Given the description of an element on the screen output the (x, y) to click on. 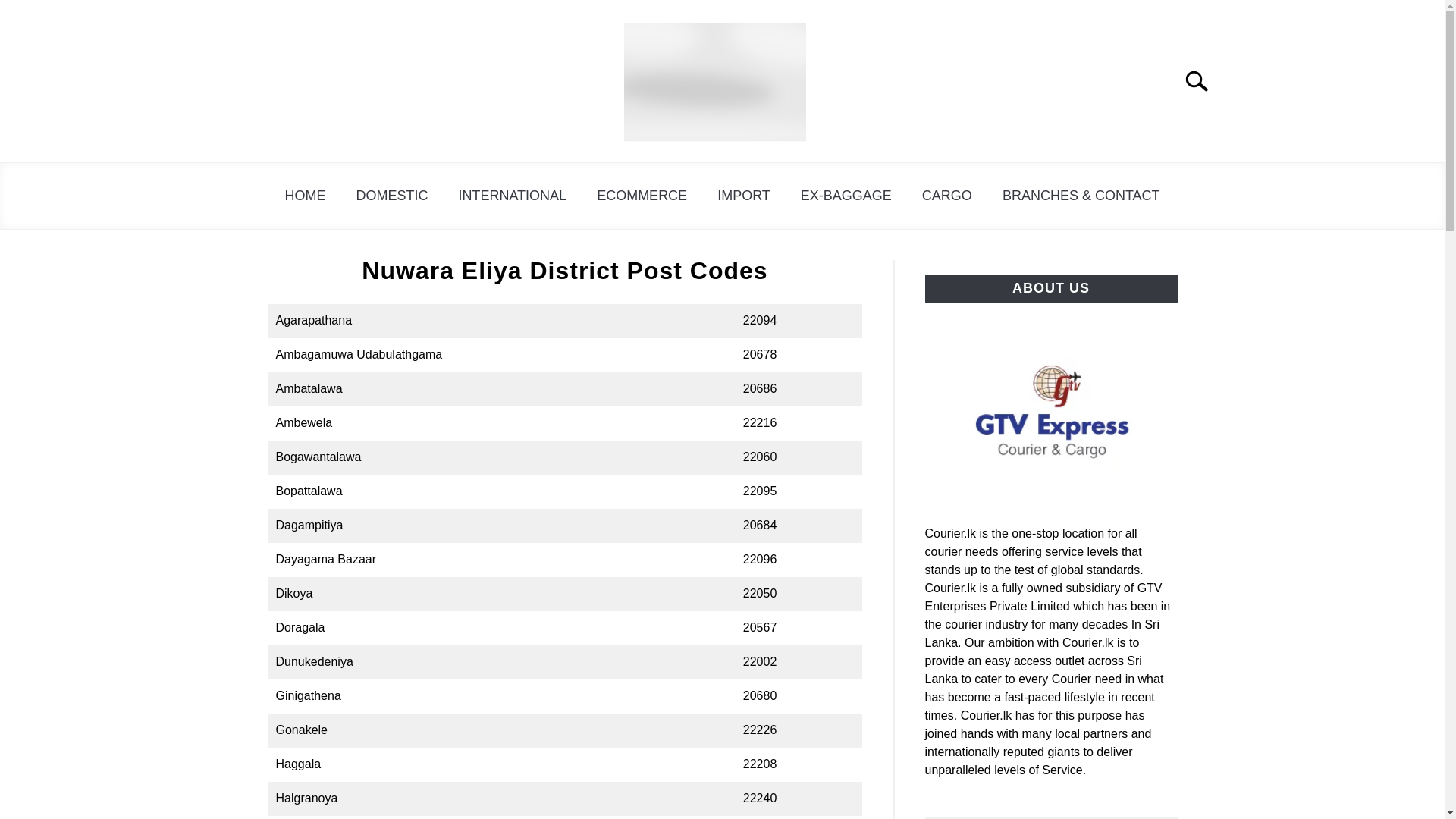
EX-BAGGAGE (846, 195)
INTERNATIONAL (511, 195)
Search (1203, 80)
DOMESTIC (391, 195)
HOME (304, 195)
ECOMMERCE (640, 195)
IMPORT (743, 195)
CARGO (947, 195)
